Given the description of an element on the screen output the (x, y) to click on. 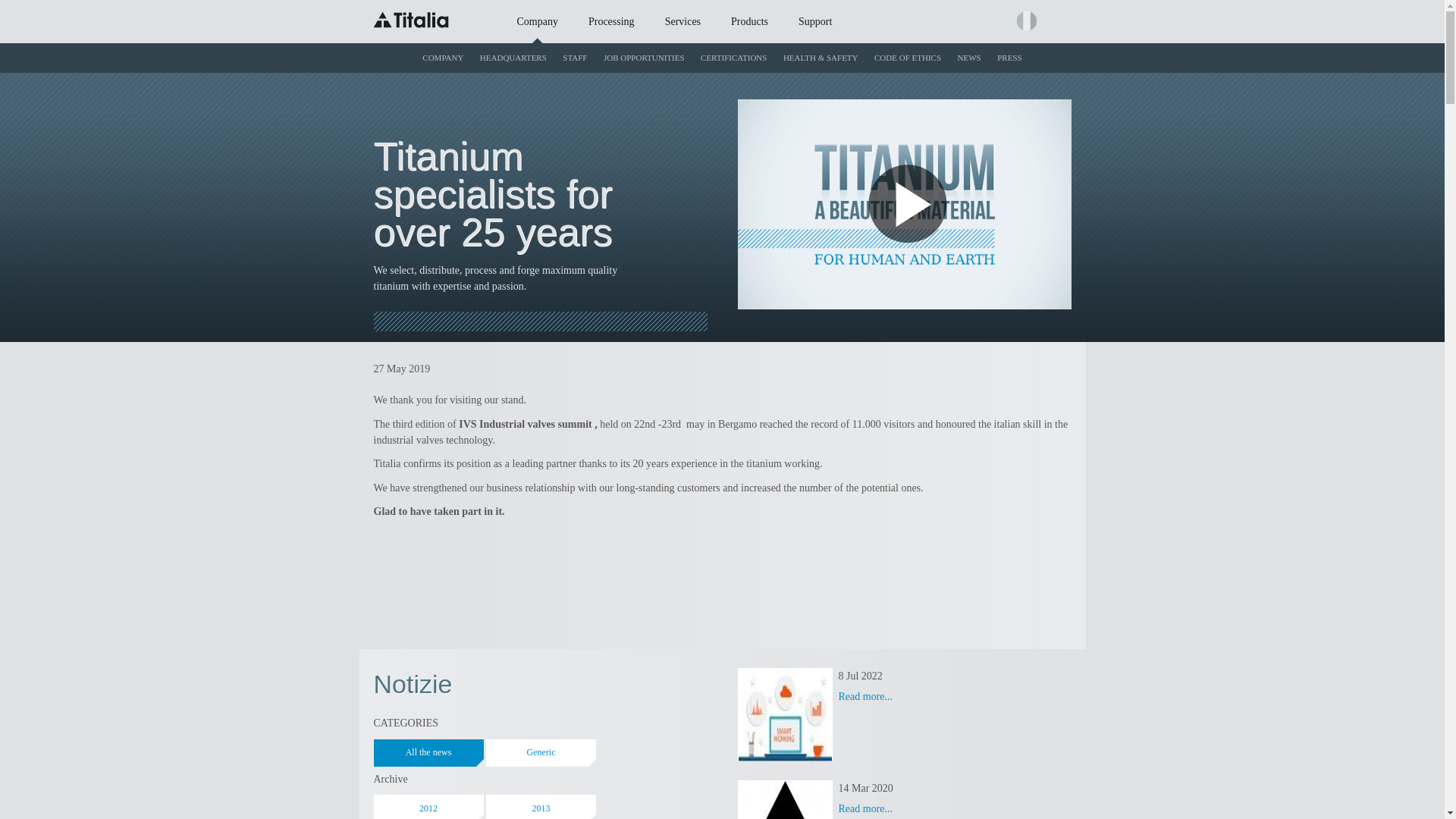
CODE OF ETHICS (907, 57)
NEWS (969, 57)
JOB OPPORTUNITIES (643, 57)
STAFF (575, 57)
HEADQUARTERS (513, 57)
COMPANY (442, 57)
2012 (427, 806)
Company (537, 22)
CERTIFICATIONS (733, 57)
PRESS (1008, 57)
Inglese (1052, 21)
NEWS (969, 57)
Processing (611, 22)
CERTIFICATIONS (733, 57)
Italiano (1025, 21)
